Given the description of an element on the screen output the (x, y) to click on. 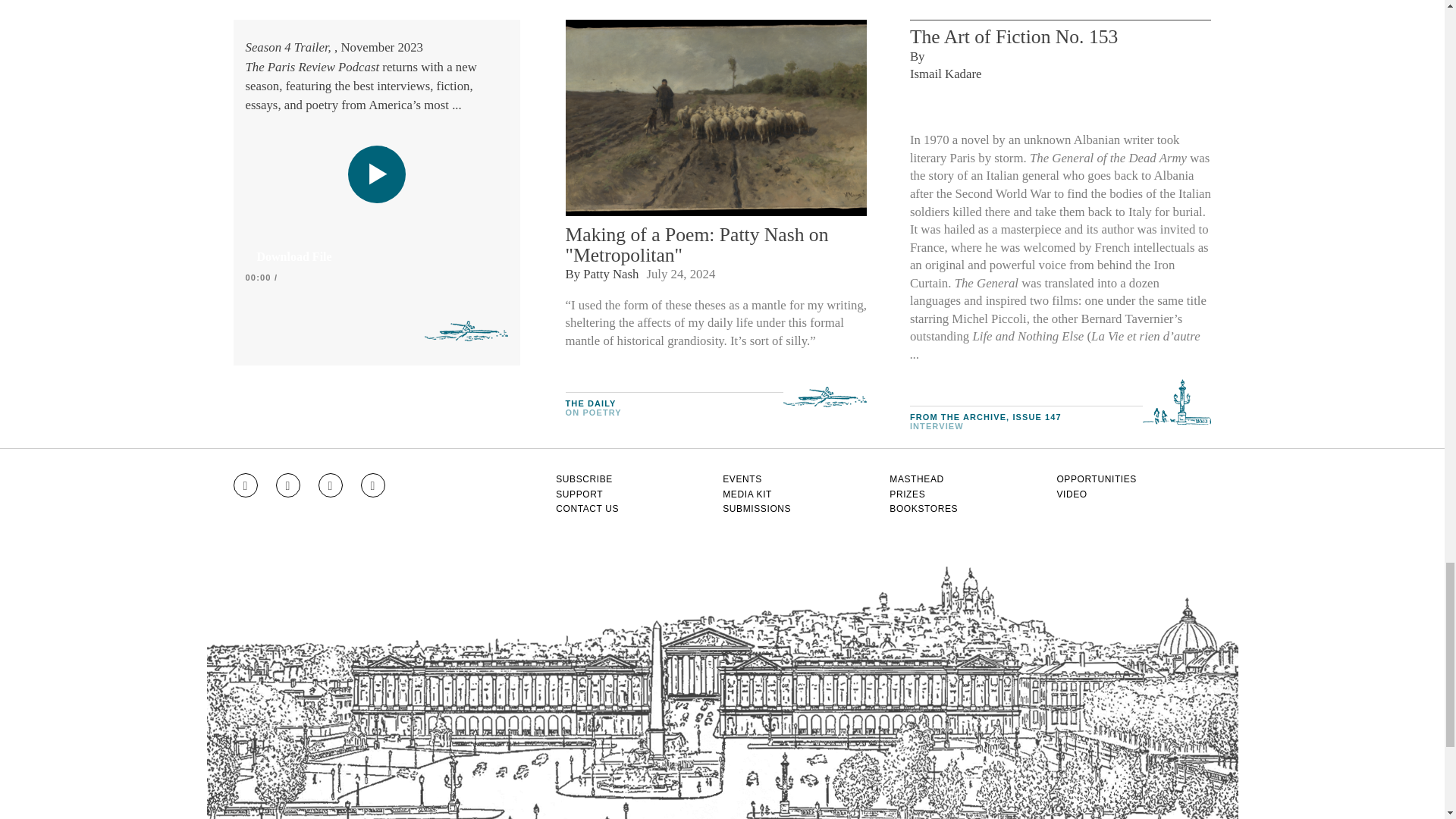
Go to Facebook page (287, 485)
Go to RSS feed (373, 485)
Go to Twitter feed (330, 485)
Go to Instagram feed (244, 485)
